Given the description of an element on the screen output the (x, y) to click on. 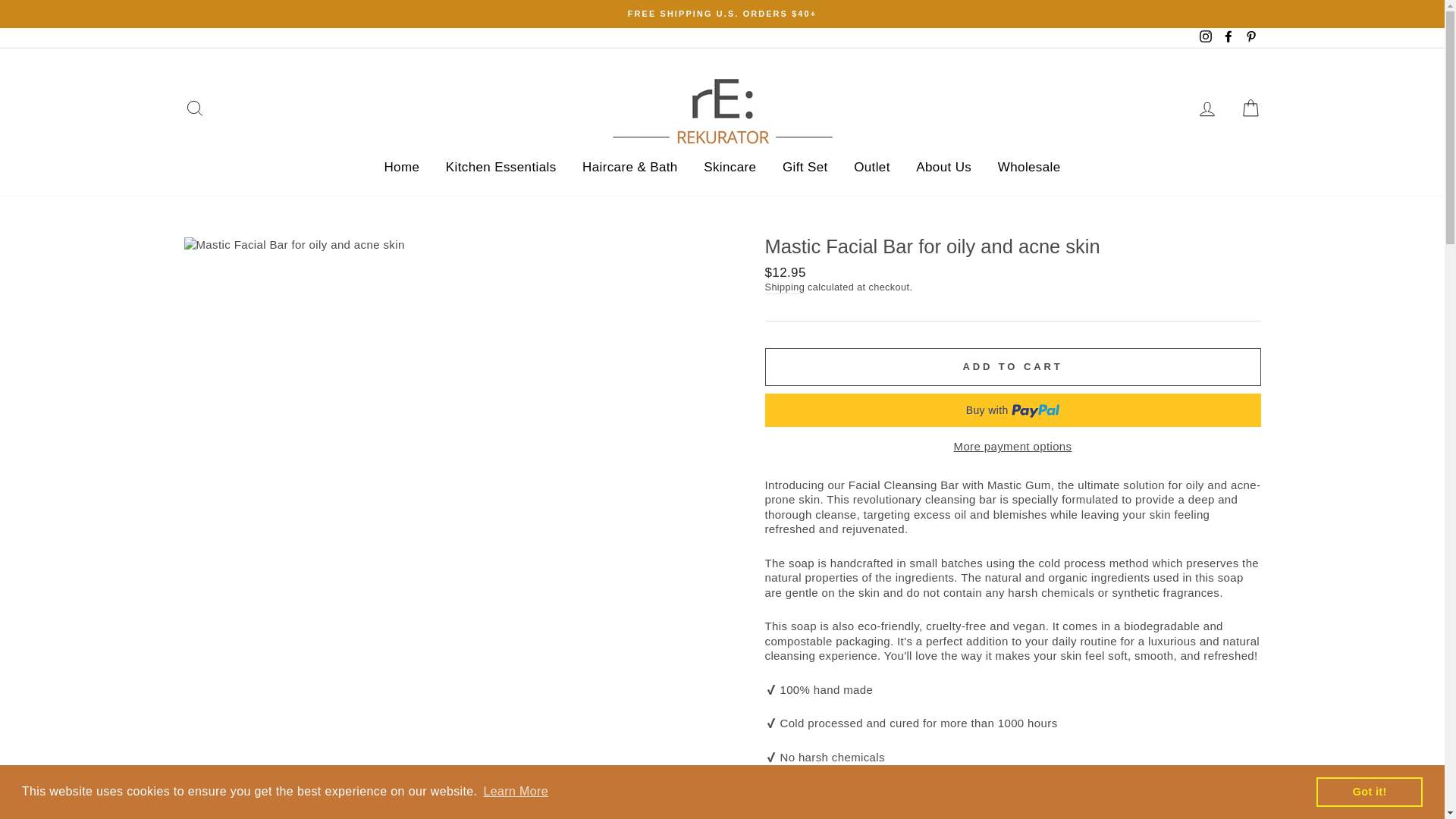
Rekurator on Instagram (1205, 37)
Rekurator on Pinterest (1250, 37)
Pinterest (1250, 37)
Got it! (1369, 791)
Search (194, 108)
Instagram (1205, 37)
Rekurator on Facebook (1228, 37)
Facebook (1228, 37)
Learn More (515, 791)
